Given the description of an element on the screen output the (x, y) to click on. 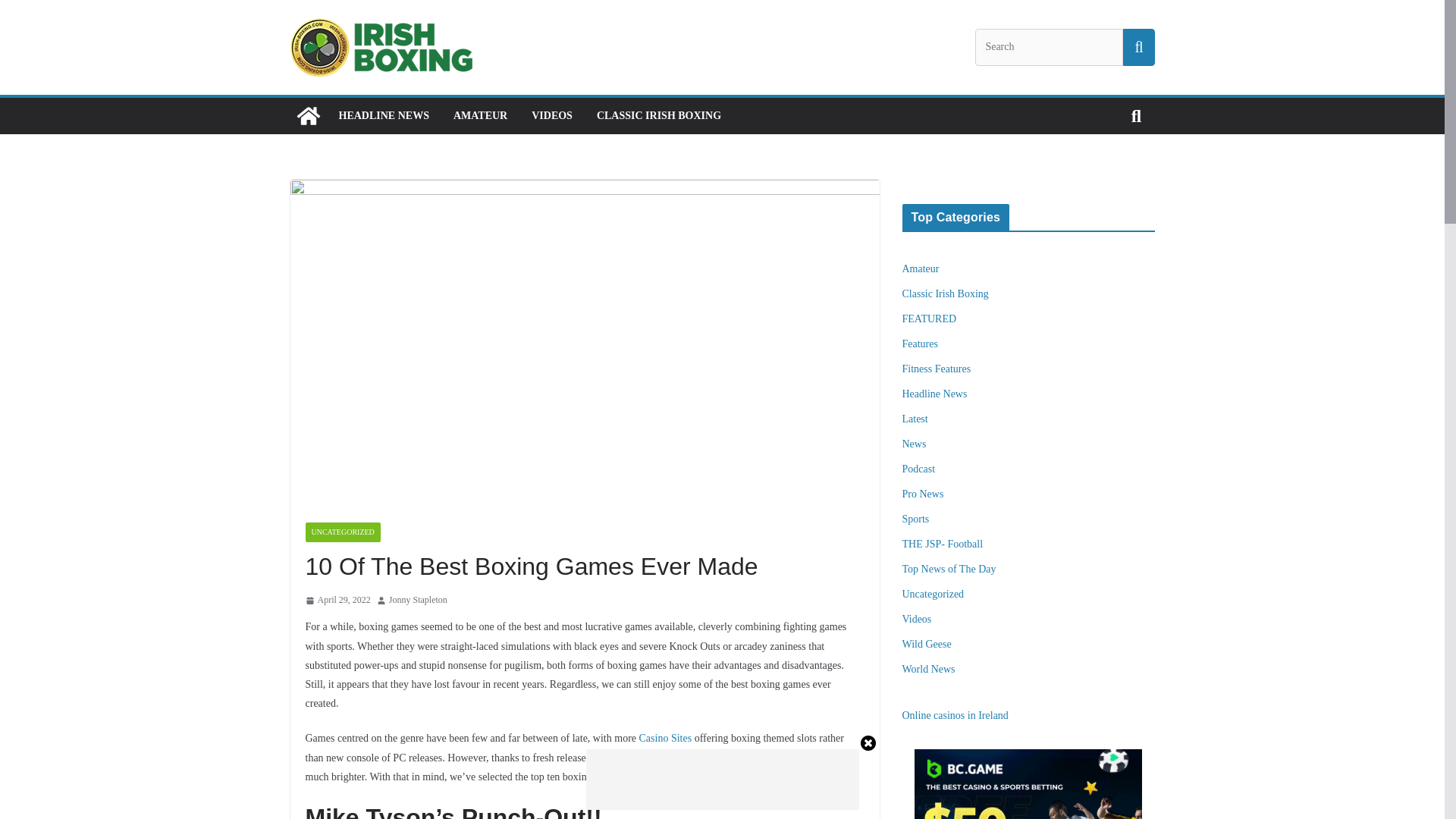
Features (919, 343)
Podcast (919, 469)
Amateur (920, 268)
Sports (916, 518)
FEATURED (929, 318)
UNCATEGORIZED (342, 532)
April 29, 2022 (336, 600)
Headline News (935, 393)
VIDEOS (551, 115)
AMATEUR (479, 115)
